Given the description of an element on the screen output the (x, y) to click on. 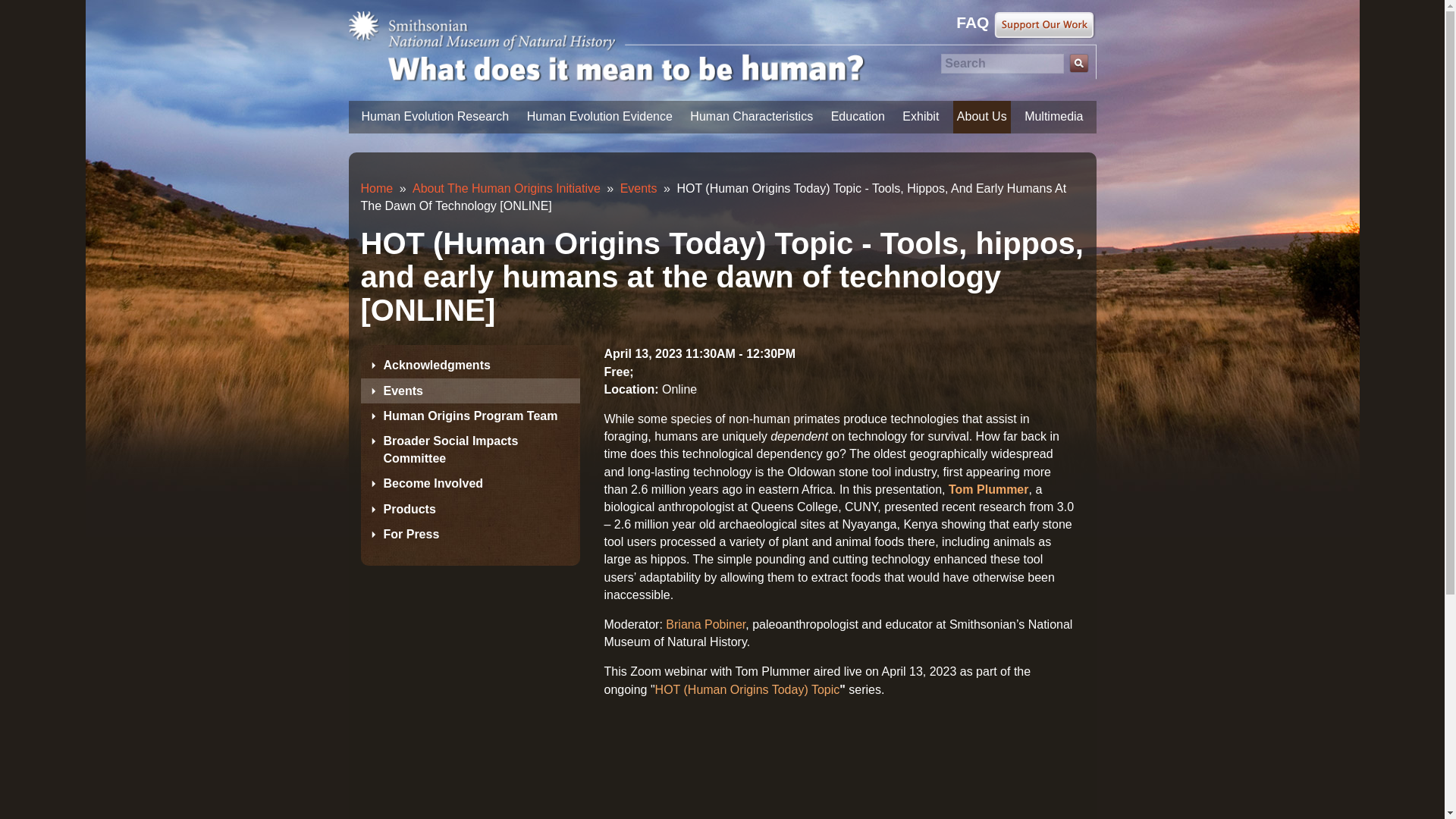
Enter the terms you wish to search for. (1001, 63)
Search (1078, 63)
The Kaltura Dynamic Video Player (839, 764)
Research (435, 116)
Home (623, 75)
Smithsonian National Museum of Natural History (493, 32)
Evidence (599, 116)
